Given the description of an element on the screen output the (x, y) to click on. 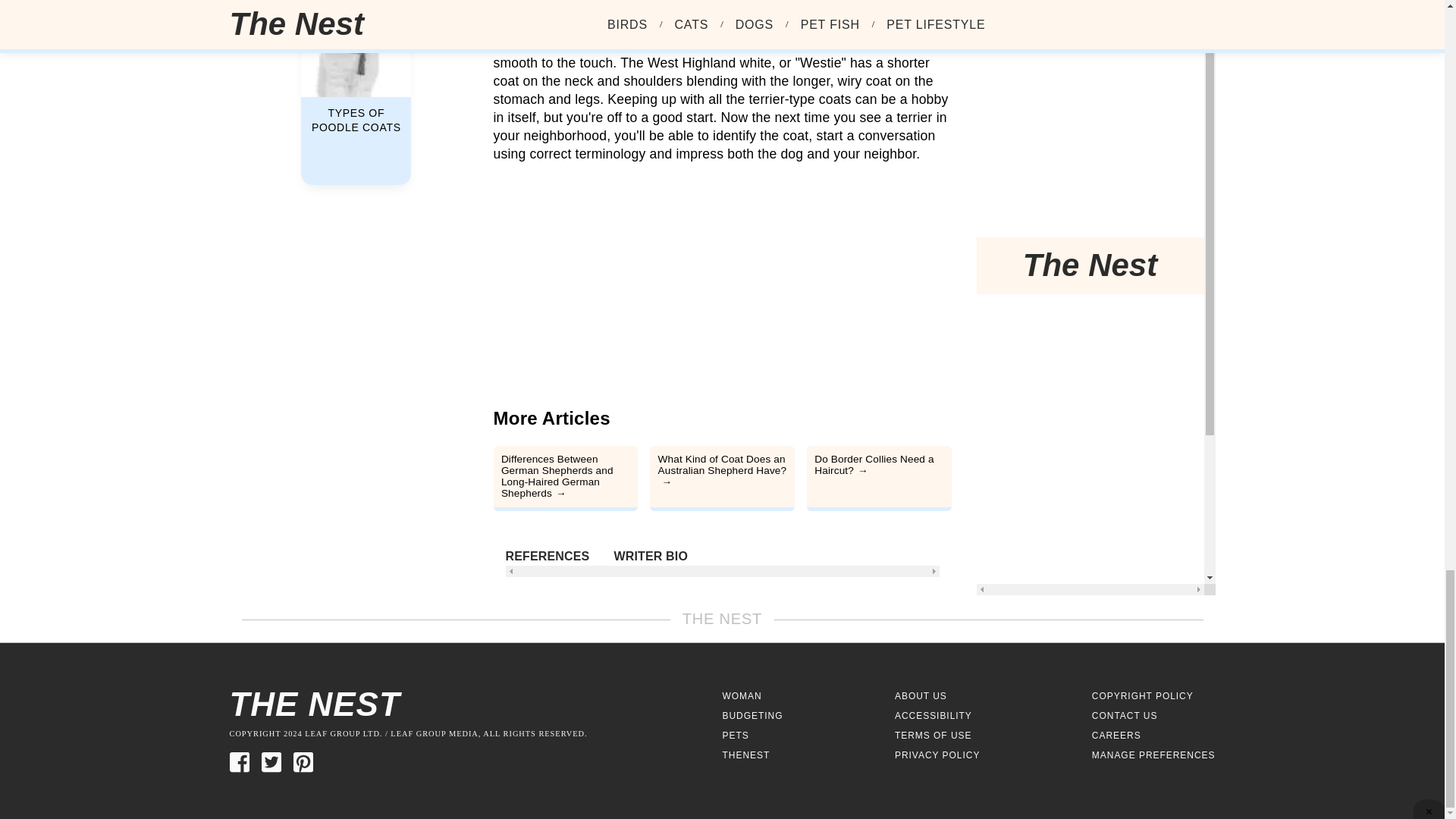
BUDGETING (752, 715)
THE NEST (475, 704)
PRIVACY POLICY (937, 755)
MANAGE PREFERENCES (1153, 755)
TERMS OF USE (933, 735)
ABOUT US (921, 696)
THENEST (746, 755)
CONTACT US (1124, 715)
COPYRIGHT POLICY (1142, 696)
WOMAN (741, 696)
